Given the description of an element on the screen output the (x, y) to click on. 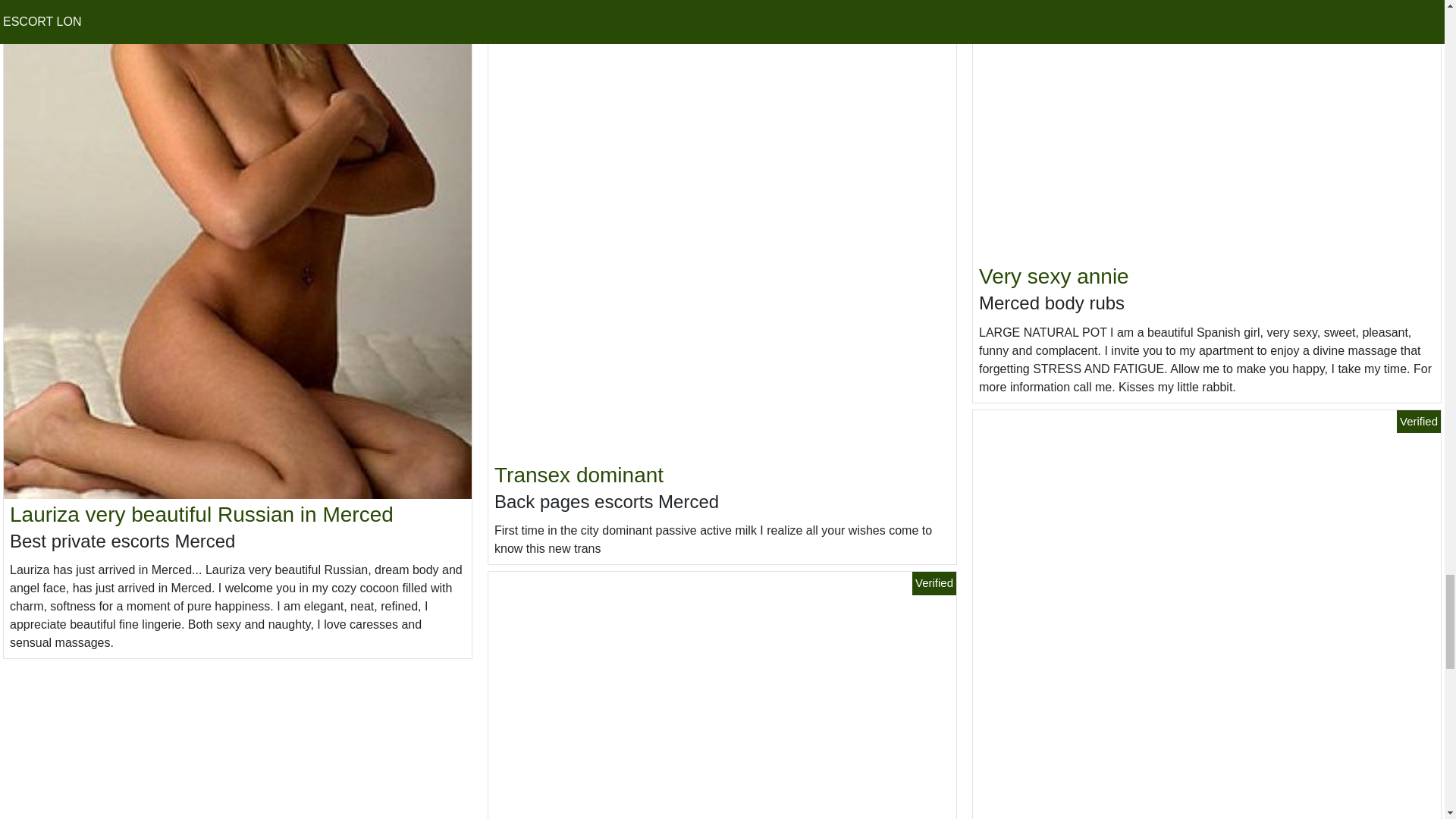
Lauriza very beautiful Russian in Merced (201, 514)
Transex dominant (579, 474)
